Given the description of an element on the screen output the (x, y) to click on. 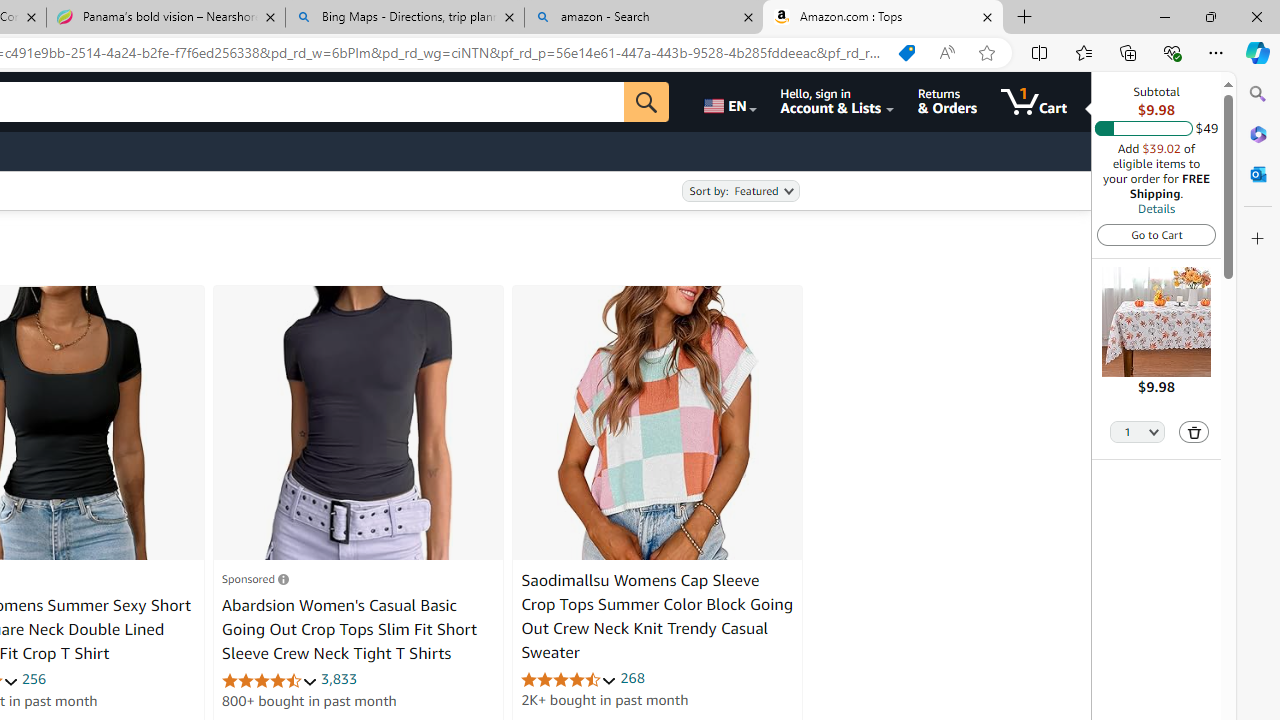
1 item in cart (1034, 101)
Go (646, 101)
3,833 (339, 678)
Delete (1193, 431)
Sort by: (740, 191)
4.4 out of 5 stars (569, 678)
Quantity Selector (1137, 430)
